Given the description of an element on the screen output the (x, y) to click on. 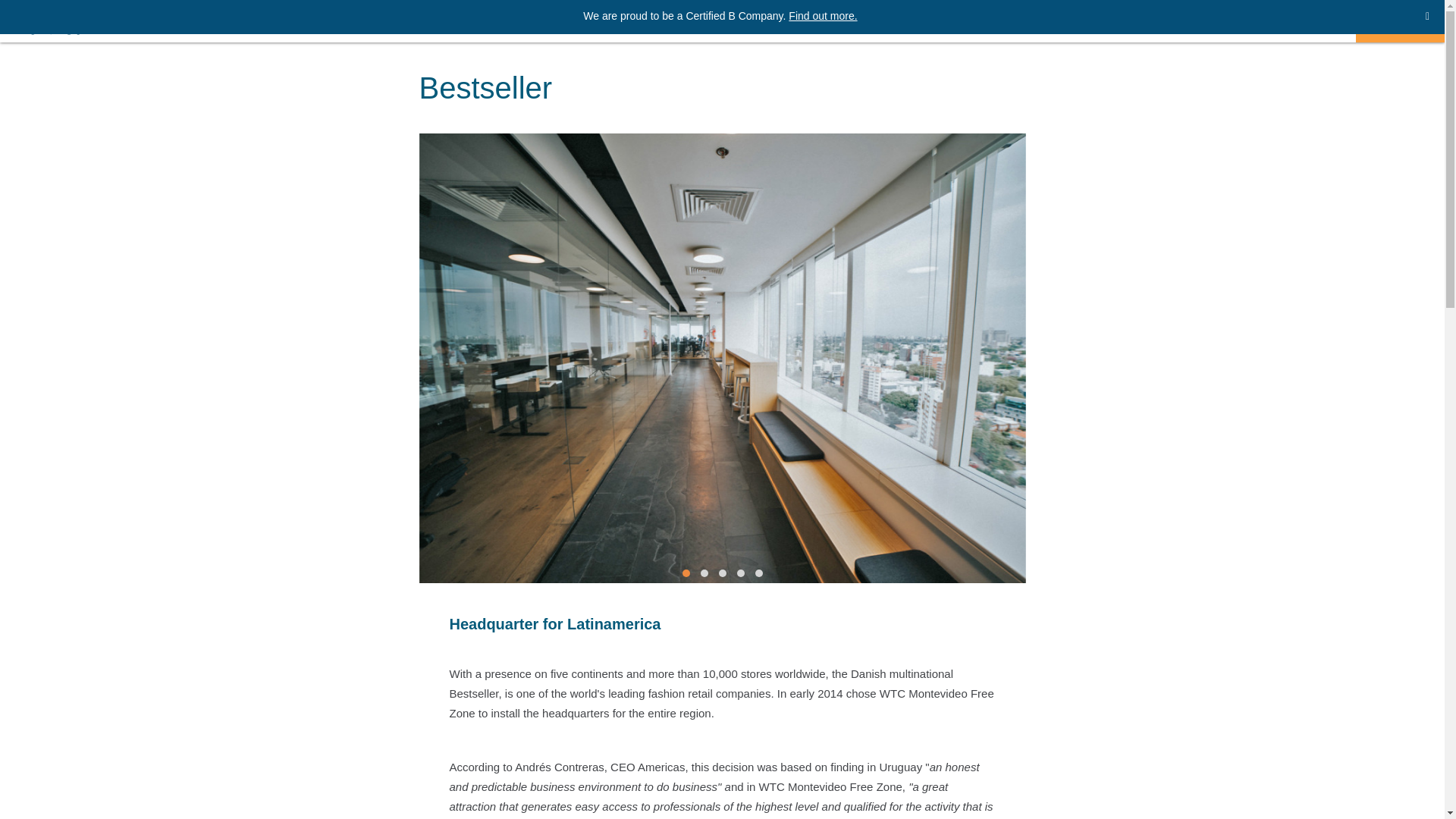
Home (931, 21)
CLIENTSZONE (1295, 21)
Work (1166, 21)
